Given the description of an element on the screen output the (x, y) to click on. 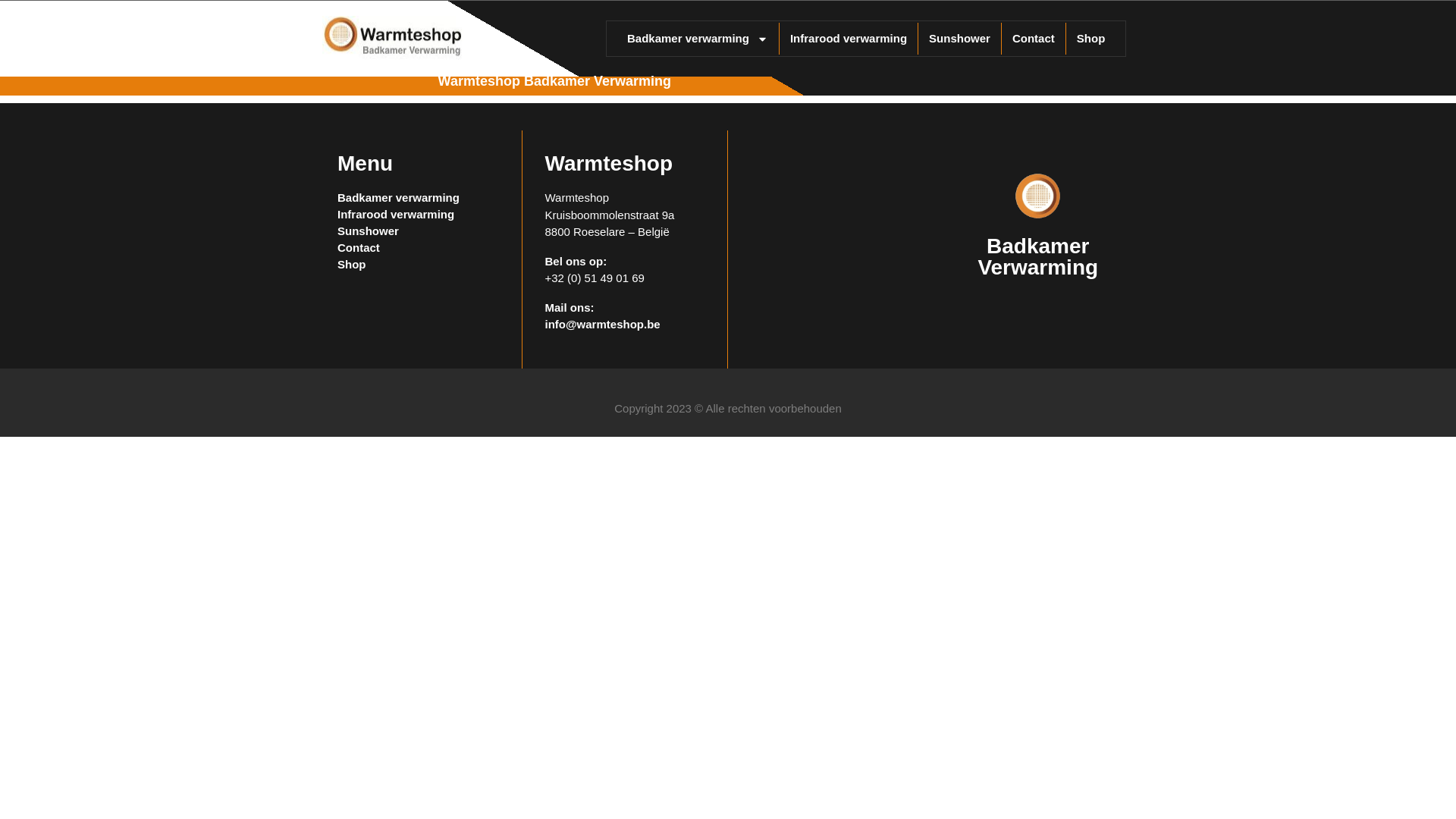
Shop Element type: text (1090, 38)
Badkamer verwarming Element type: text (418, 197)
Badkamer verwarming Element type: text (697, 38)
Sunshower Element type: text (959, 38)
Infrarood verwarming Element type: text (418, 214)
Contact Element type: text (1033, 38)
Contact Element type: text (418, 247)
info@warmteshop.be Element type: text (601, 323)
Sunshower Element type: text (418, 230)
Infrarood verwarming Element type: text (848, 38)
Badkamer Verwarming Element type: text (1037, 256)
Shop Element type: text (418, 264)
